Given the description of an element on the screen output the (x, y) to click on. 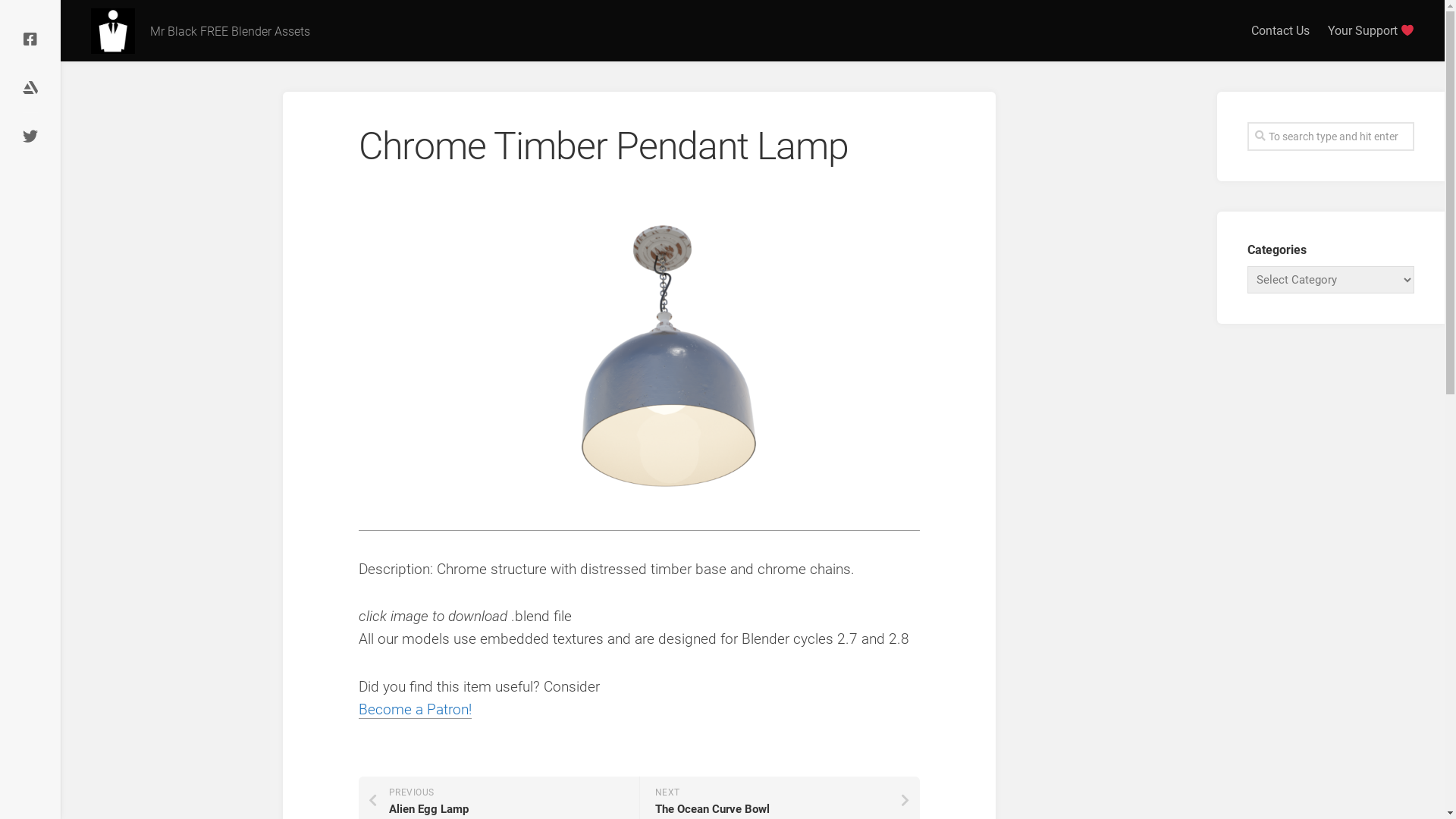
Mr Black @ Twitter Element type: hover (30, 136)
Your Support Element type: text (1370, 30)
Become a Patron! Element type: text (413, 709)
Mr Black on Facebook Element type: hover (30, 39)
Mr Black on Artstation Element type: hover (30, 87)
Contact Us Element type: text (1280, 30)
